Given the description of an element on the screen output the (x, y) to click on. 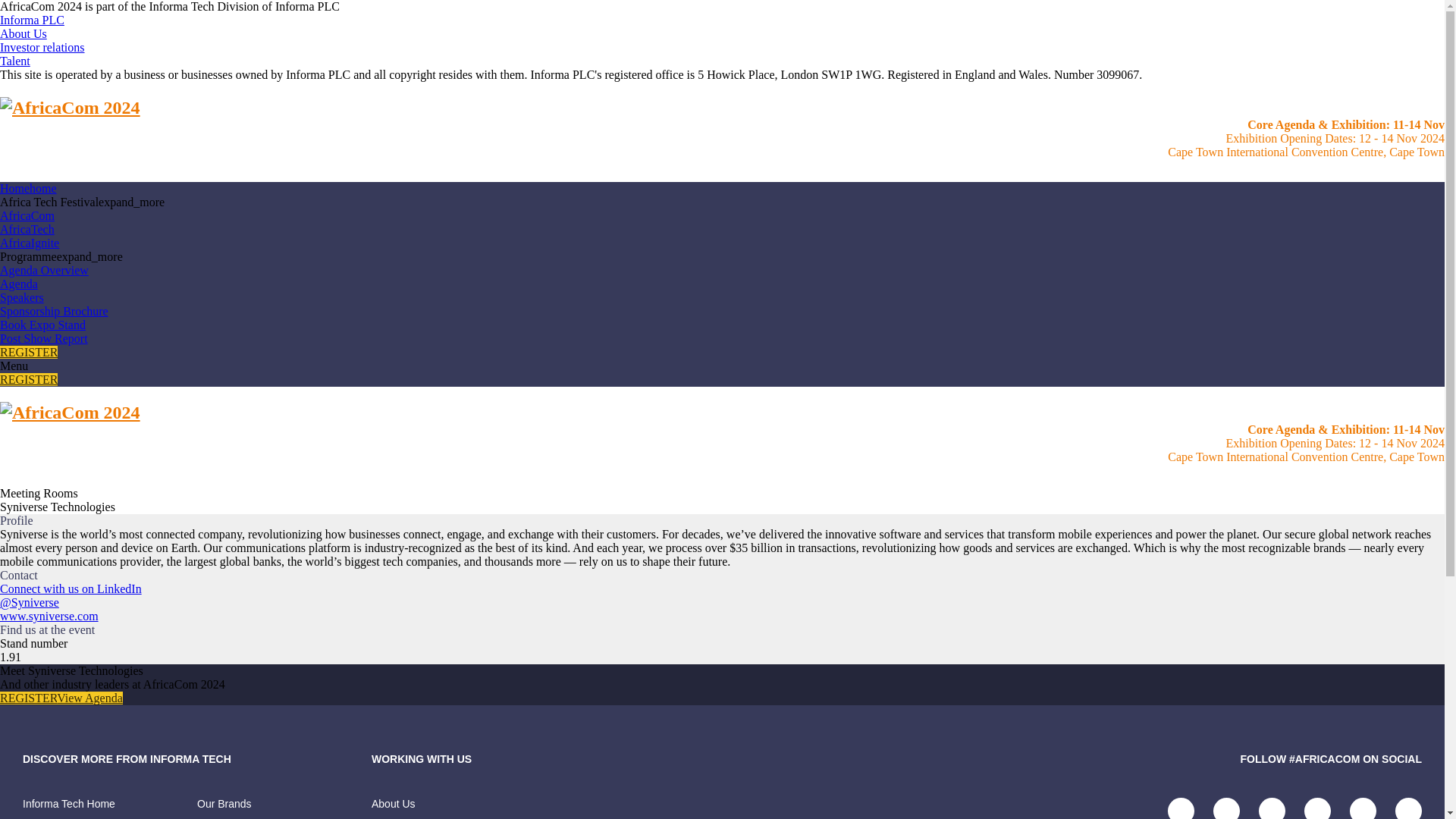
REGISTER (29, 351)
View Agenda (89, 697)
www.syniverse.com (49, 615)
Our Brands (283, 808)
Agenda (18, 283)
About Us (423, 808)
Homehome (28, 187)
Post Show Report (43, 338)
Speakers (21, 297)
AfricaCom (27, 215)
